Given the description of an element on the screen output the (x, y) to click on. 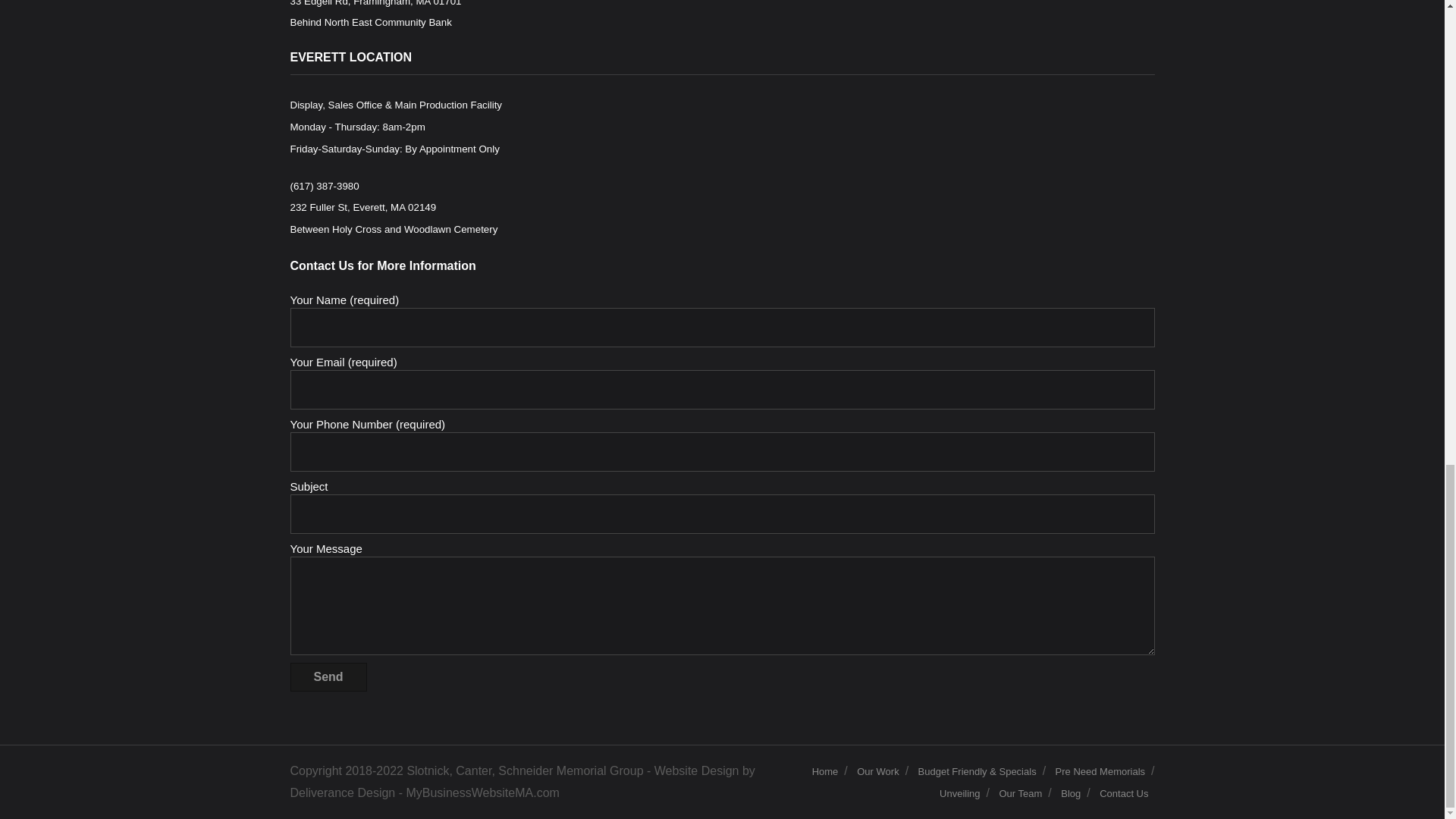
Send (327, 676)
